Given the description of an element on the screen output the (x, y) to click on. 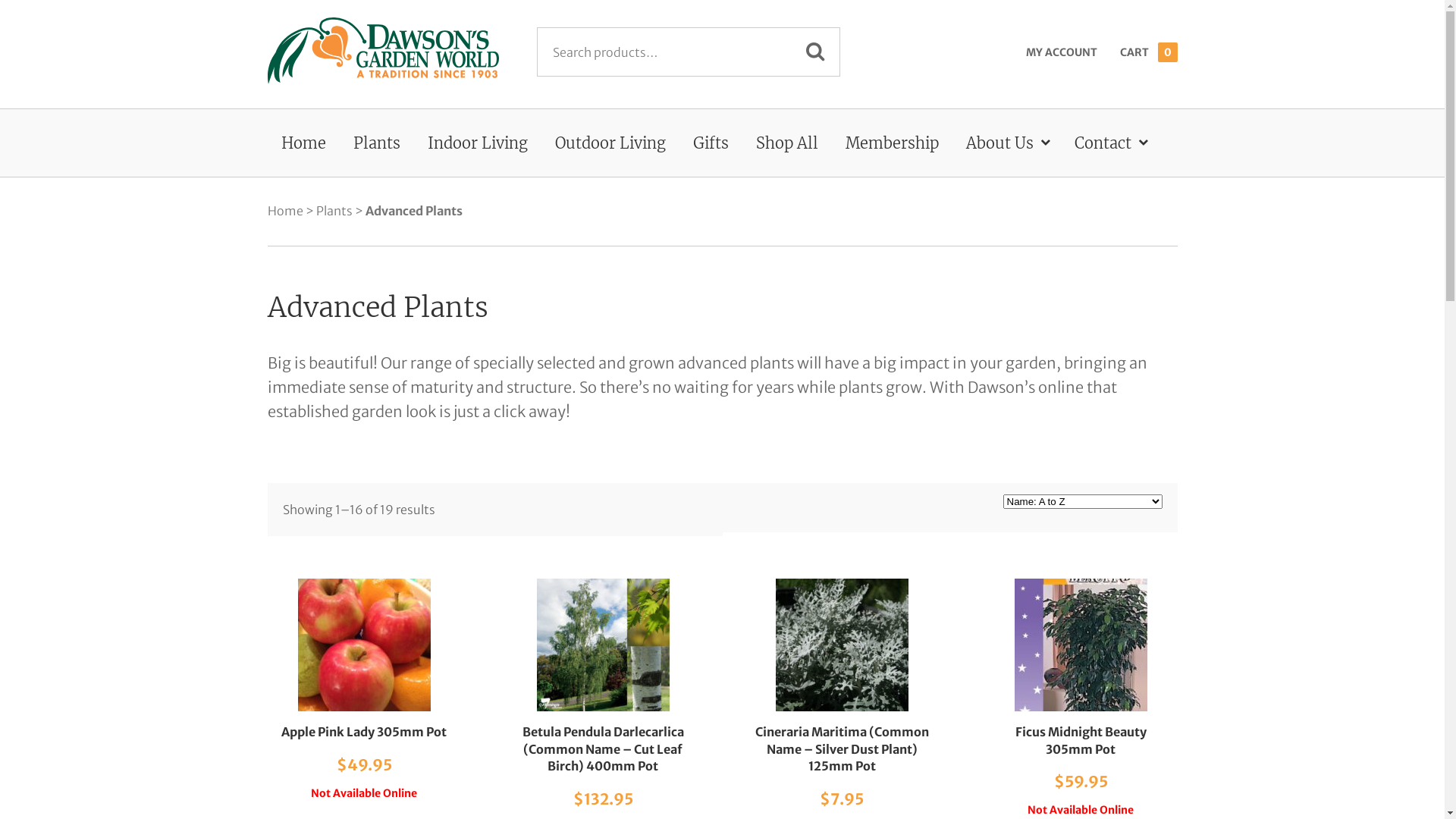
Indoor Living Element type: text (477, 142)
Dawsons Garden World Element type: hover (382, 50)
CART0 Element type: text (1147, 52)
Search Element type: text (814, 51)
Outdoor Living Element type: text (610, 142)
Home Element type: text (284, 210)
Membership Element type: text (891, 142)
Apple Pink Lady 305mm Pot
$49.95
Not Available Online Element type: text (363, 689)
Dawsons Garden World Element type: hover (382, 54)
Ficus Midnight Beauty 305mm Pot
$59.95
Not Available Online Element type: text (1080, 698)
Plants Element type: text (376, 142)
About Us Element type: text (1006, 142)
MY ACCOUNT Element type: text (1060, 52)
Home Element type: text (302, 142)
Shop All Element type: text (786, 142)
Plants Element type: text (333, 210)
Gifts Element type: text (710, 142)
Contact Element type: text (1108, 142)
